Given the description of an element on the screen output the (x, y) to click on. 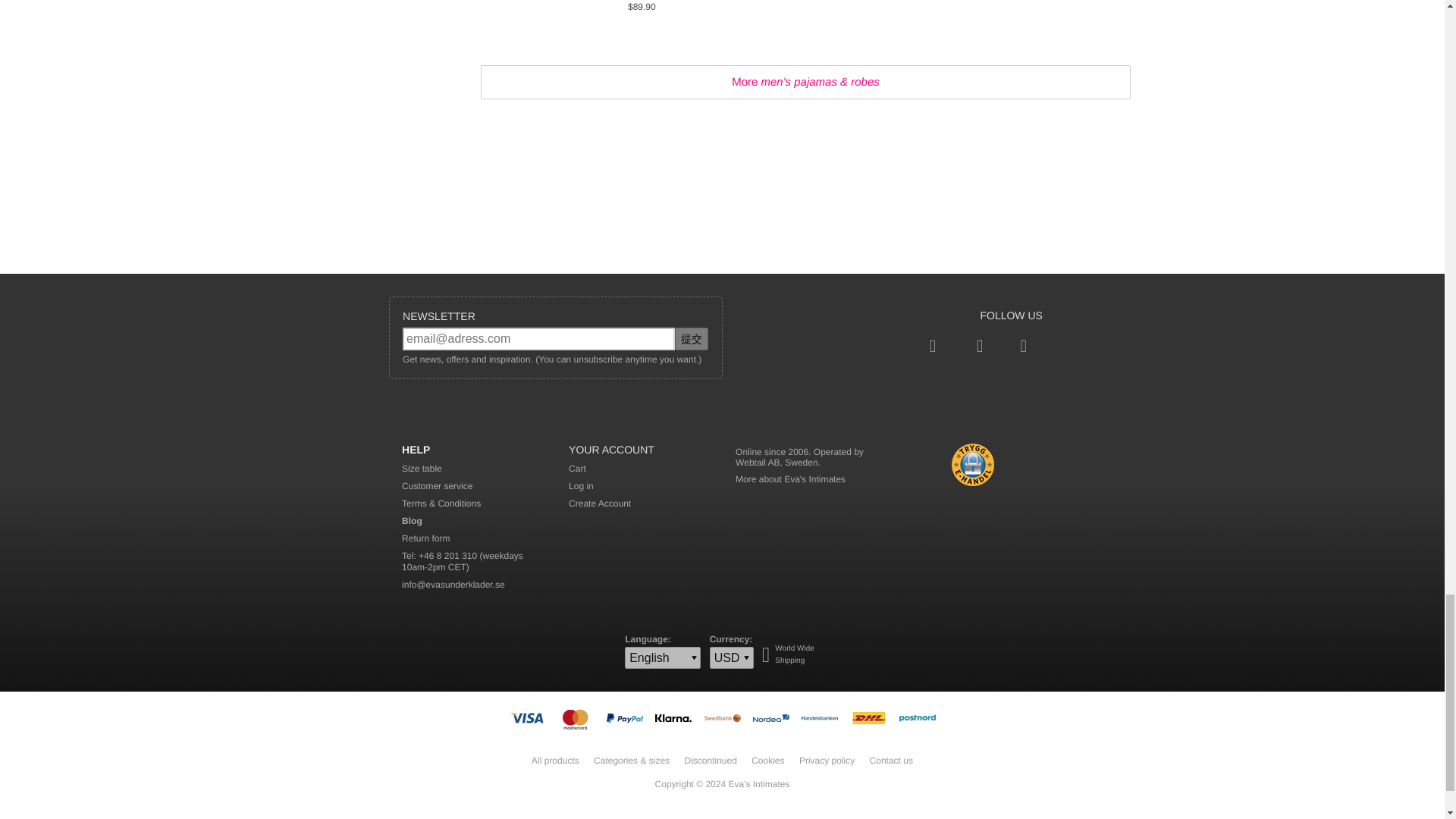
Pajamas (530, 22)
Men's bathrobe, long sleeves, pockets, sash, shawl collar (713, 22)
Pajamas (530, 22)
Men's bathrobe, long sleeves, pockets, sash, shawl collar (713, 22)
